Given the description of an element on the screen output the (x, y) to click on. 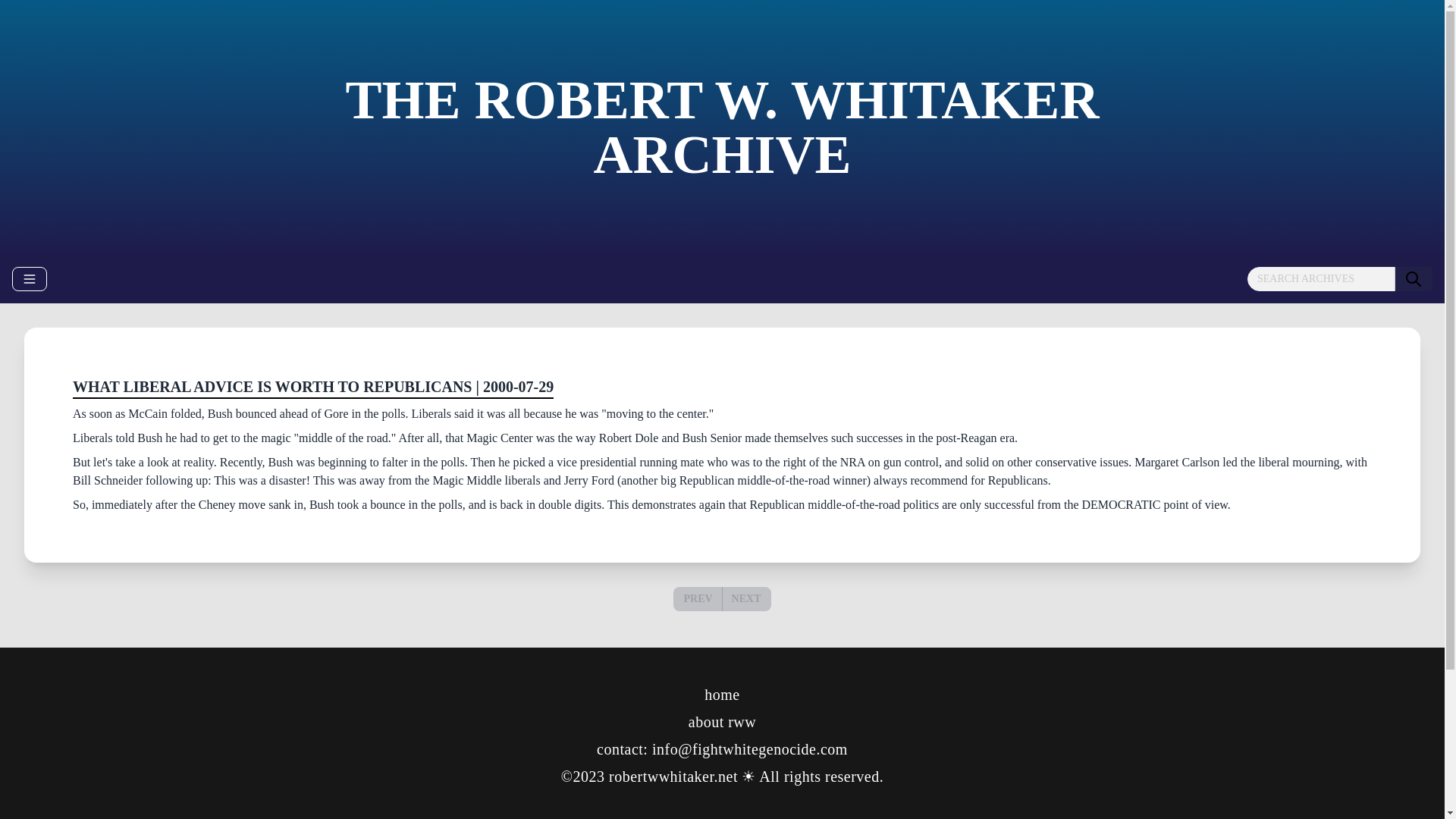
THE ROBERT W. WHITAKER ARCHIVE (721, 126)
NEXT (746, 598)
PREV (696, 598)
NEXT (746, 598)
PREV (697, 598)
home (721, 694)
about rww (721, 721)
